Given the description of an element on the screen output the (x, y) to click on. 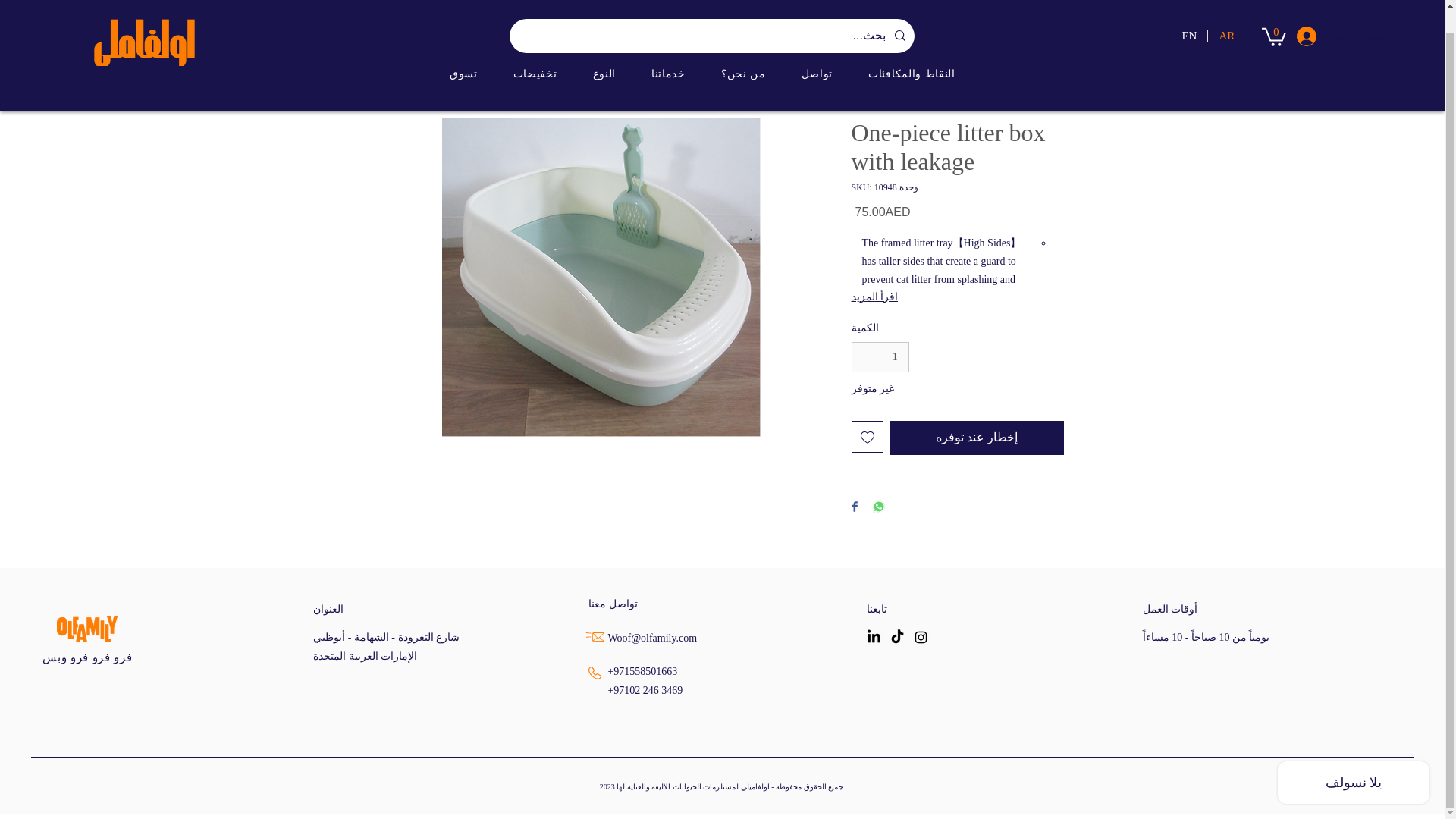
AR (1225, 12)
EN (1188, 12)
0 (1273, 12)
1 (879, 357)
0 (1273, 12)
